Given the description of an element on the screen output the (x, y) to click on. 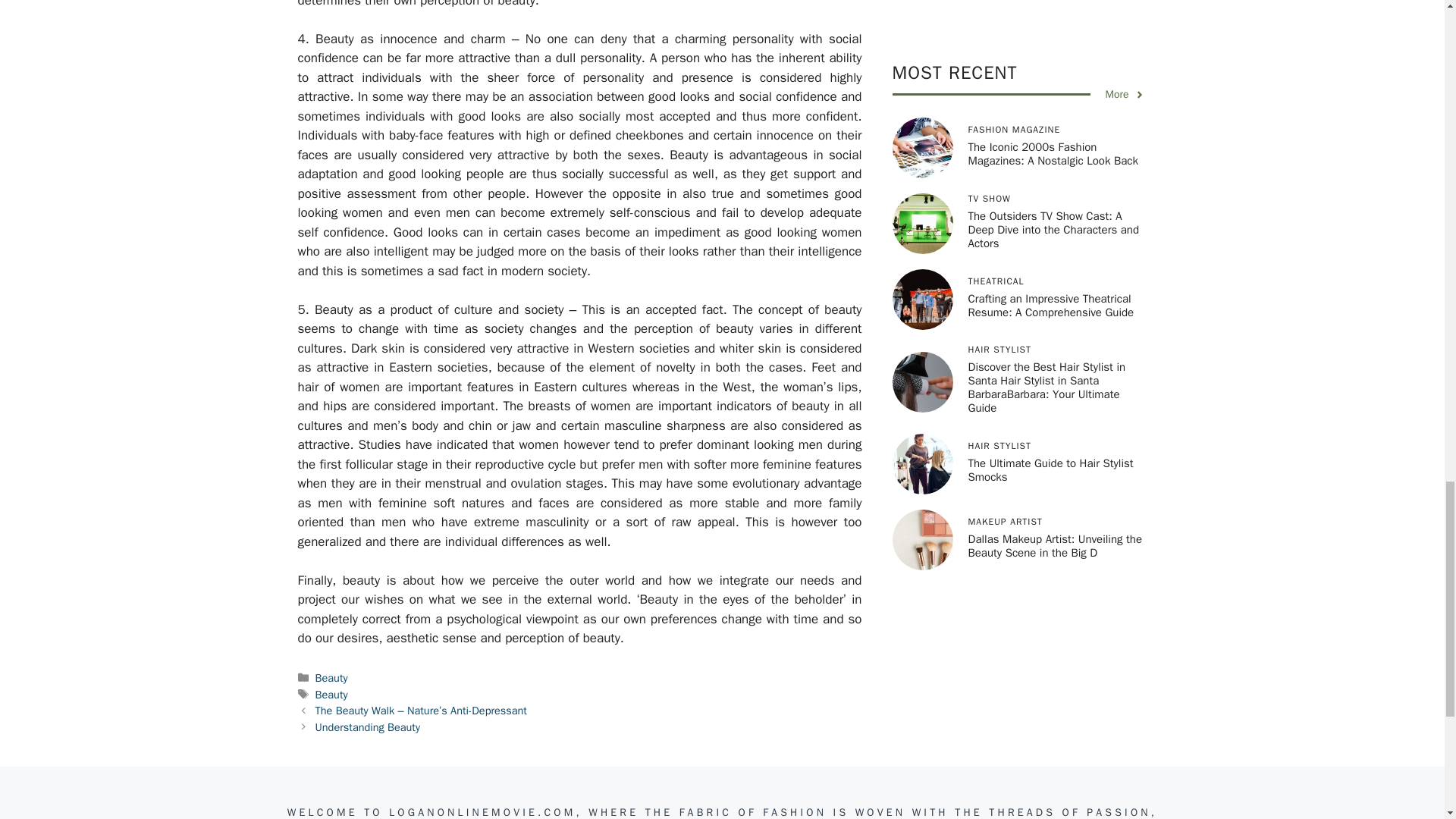
Understanding Beauty (367, 726)
Beauty (331, 677)
Beauty (331, 694)
